Given the description of an element on the screen output the (x, y) to click on. 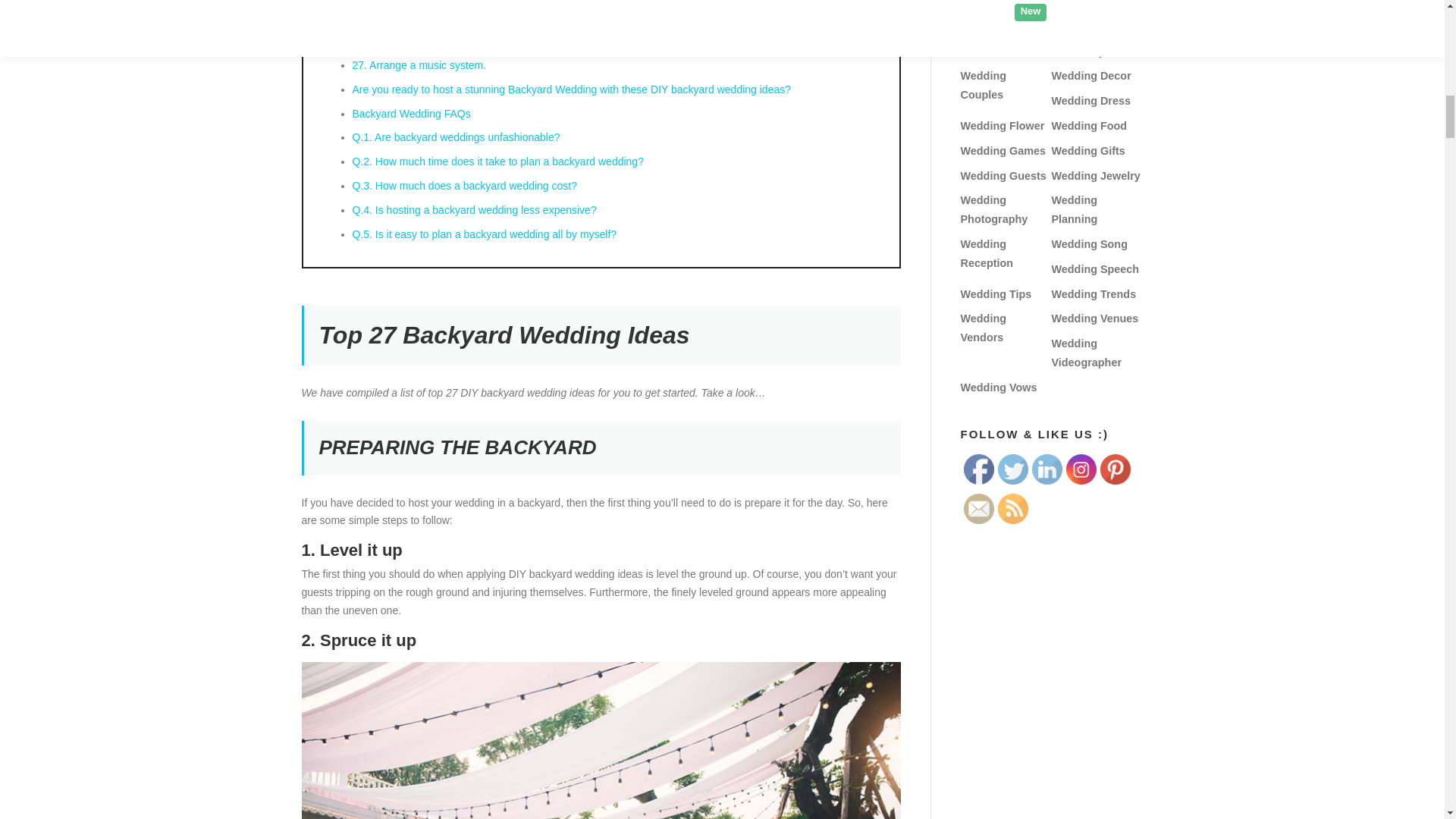
Happy Wedding App on Twitter (1012, 469)
Happy Wedding App on Facebook (977, 469)
